Given the description of an element on the screen output the (x, y) to click on. 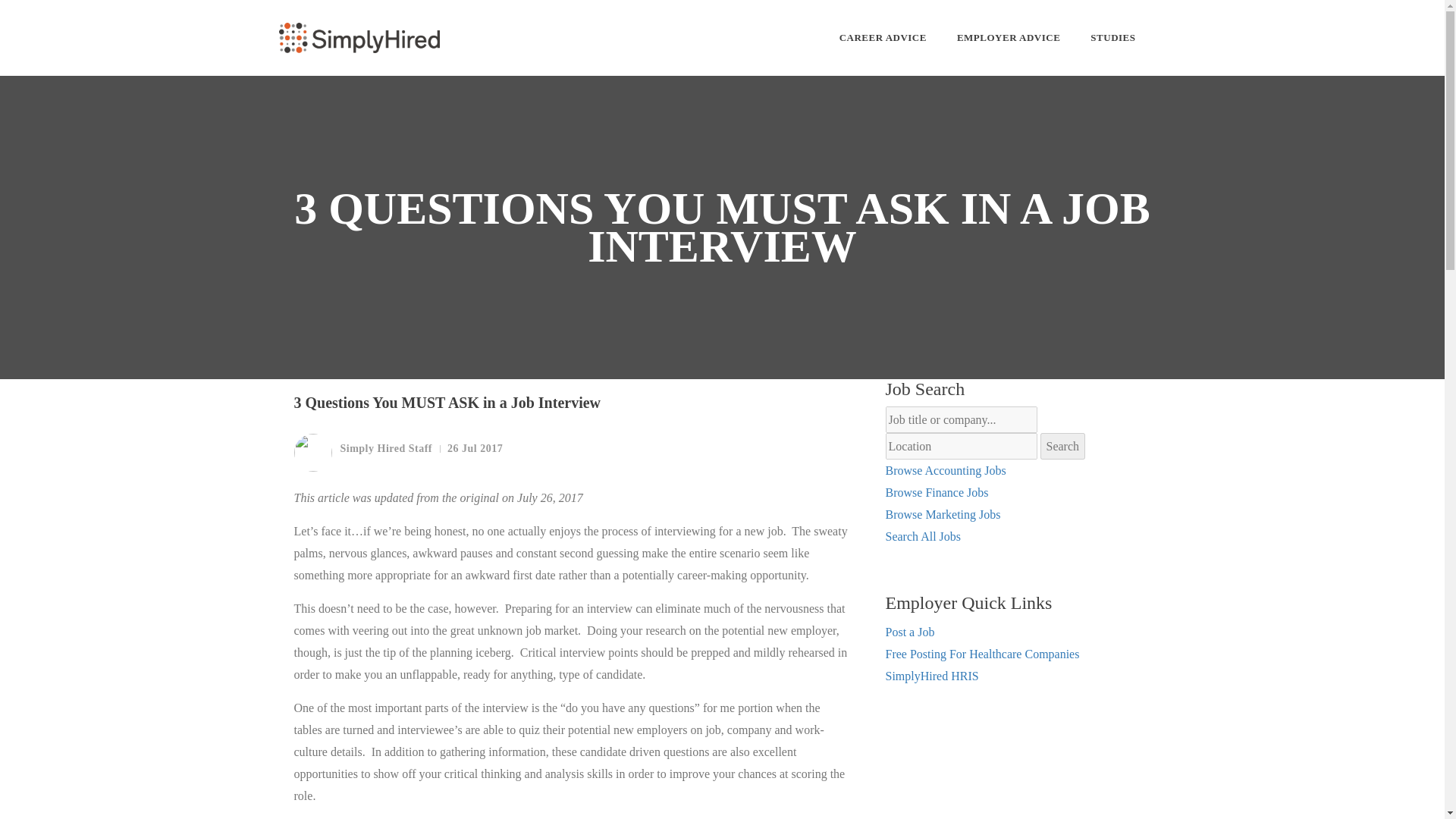
Simply Hired Staff (363, 452)
Browse Finance Jobs (936, 492)
Browse Accounting Jobs (945, 470)
Search All Jobs (922, 535)
Post a Job (909, 631)
Search (1063, 446)
Search (1063, 446)
EMPLOYER ADVICE (1007, 38)
CAREER ADVICE (883, 38)
Free Posting For Healthcare Companies (982, 653)
